Given the description of an element on the screen output the (x, y) to click on. 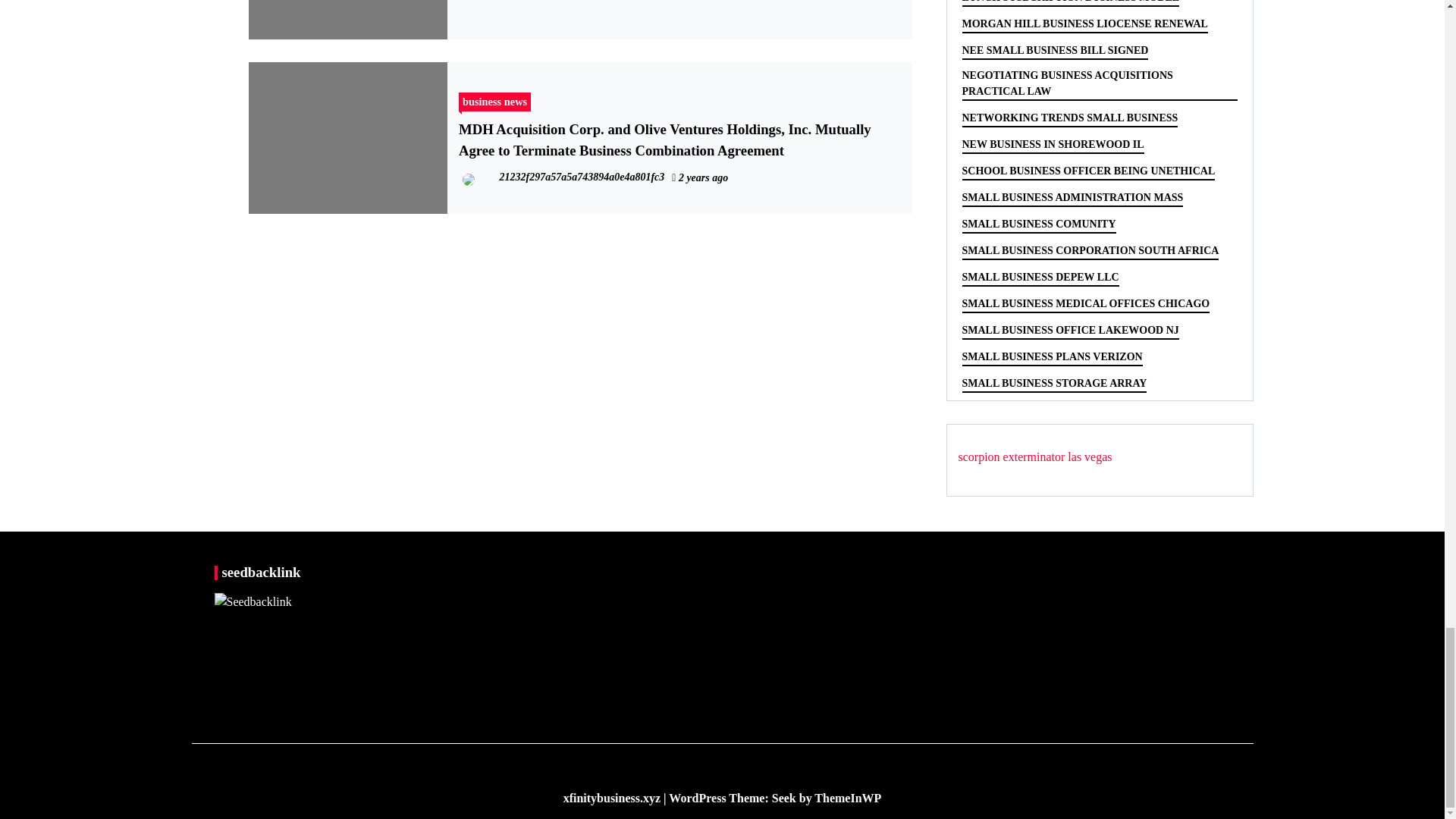
Seedbacklink (252, 601)
